Given the description of an element on the screen output the (x, y) to click on. 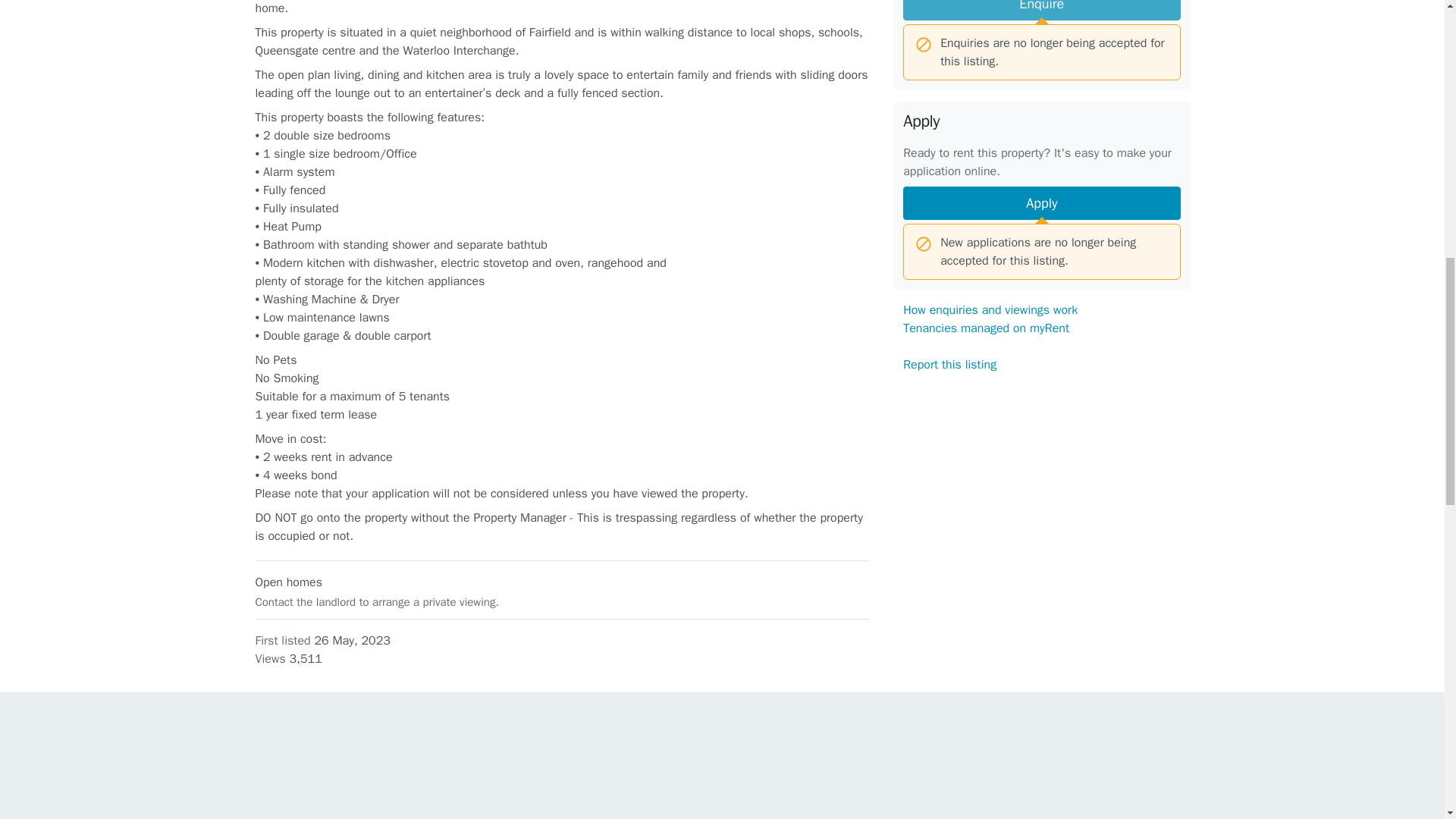
Apply (1040, 203)
Tenancies managed on myRent (985, 328)
How enquiries and viewings work (989, 309)
Report this listing (948, 364)
Enquire (1040, 10)
Report (1041, 636)
Enquire (1040, 10)
